Given the description of an element on the screen output the (x, y) to click on. 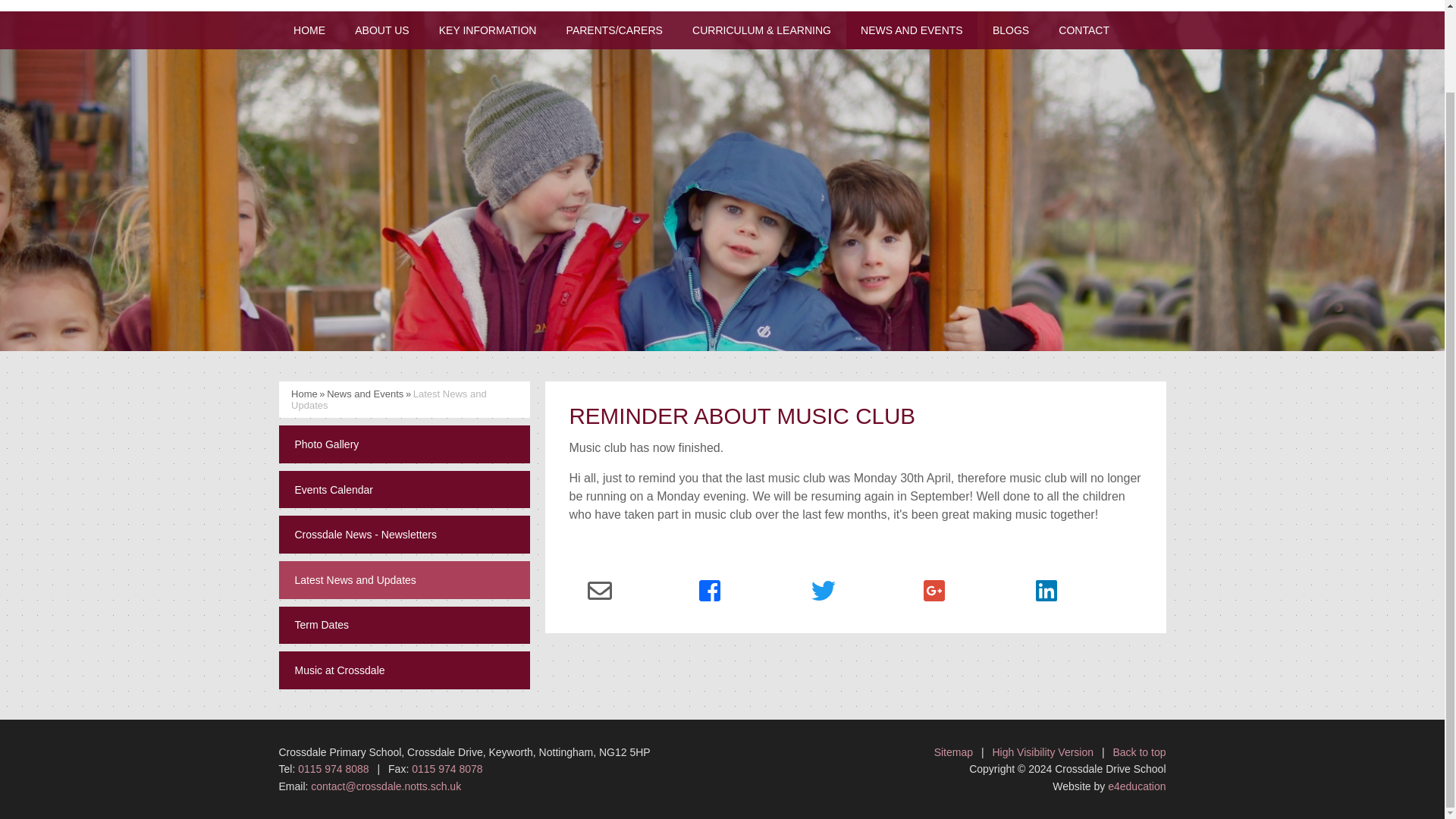
HOME (309, 30)
KEY INFORMATION (487, 30)
ABOUT US (382, 30)
